Given the description of an element on the screen output the (x, y) to click on. 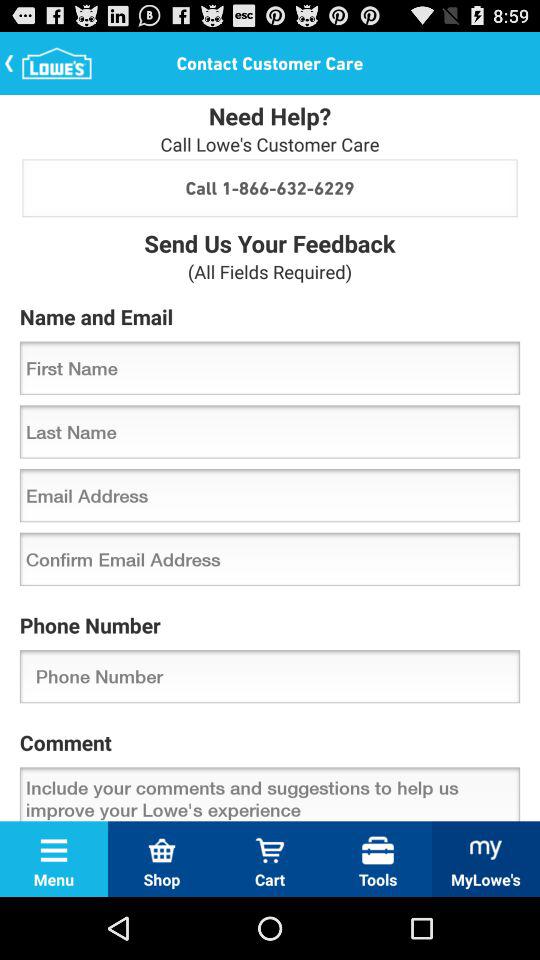
select icon below the name and email icon (269, 367)
